Given the description of an element on the screen output the (x, y) to click on. 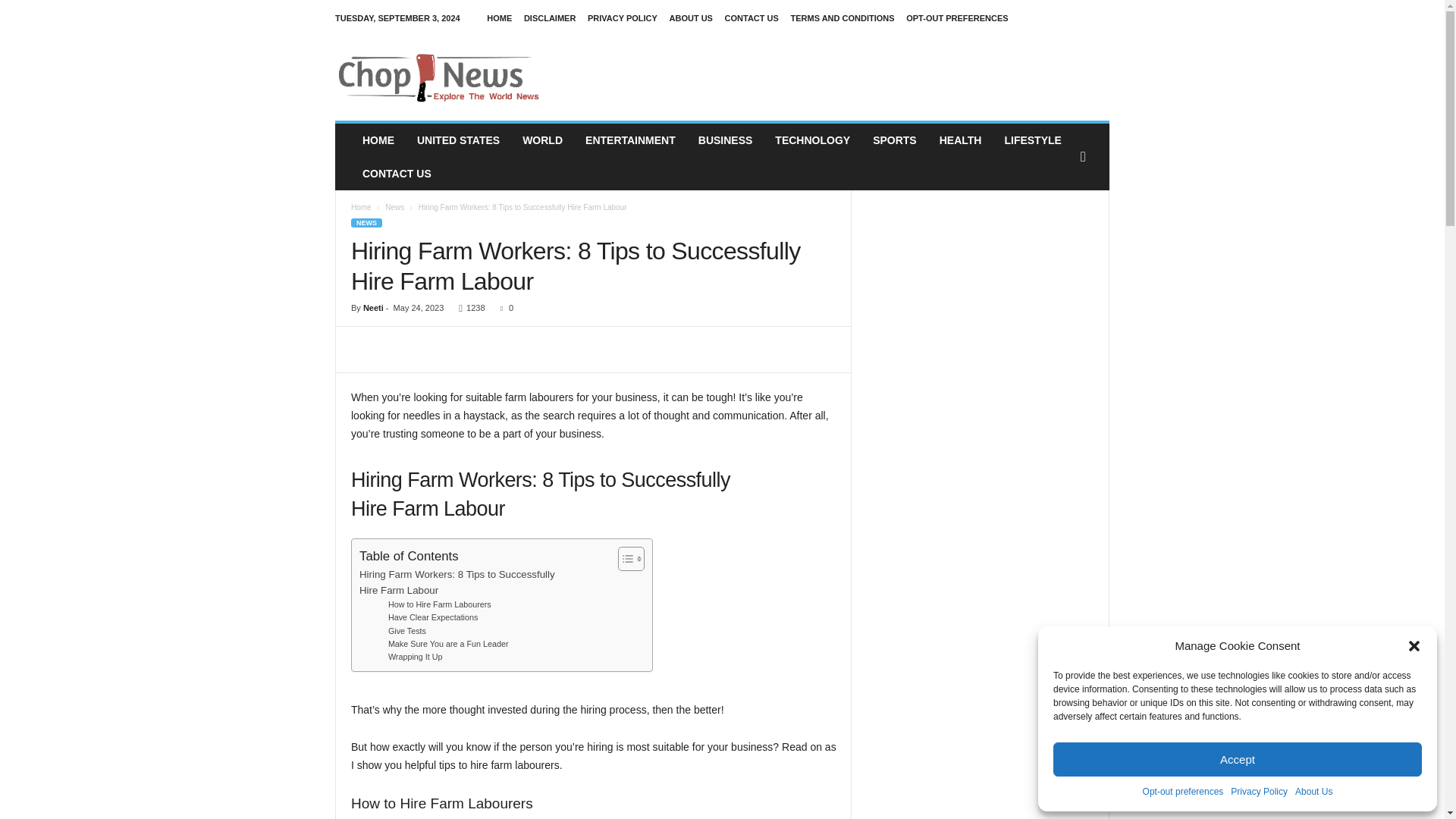
HOME (499, 17)
DISCLAIMER (549, 17)
OPT-OUT PREFERENCES (956, 17)
TERMS AND CONDITIONS (841, 17)
ABOUT US (689, 17)
About Us (1313, 791)
Accept (1237, 759)
CONTACT US (751, 17)
Privacy Policy (1258, 791)
PRIVACY POLICY (623, 17)
